Given the description of an element on the screen output the (x, y) to click on. 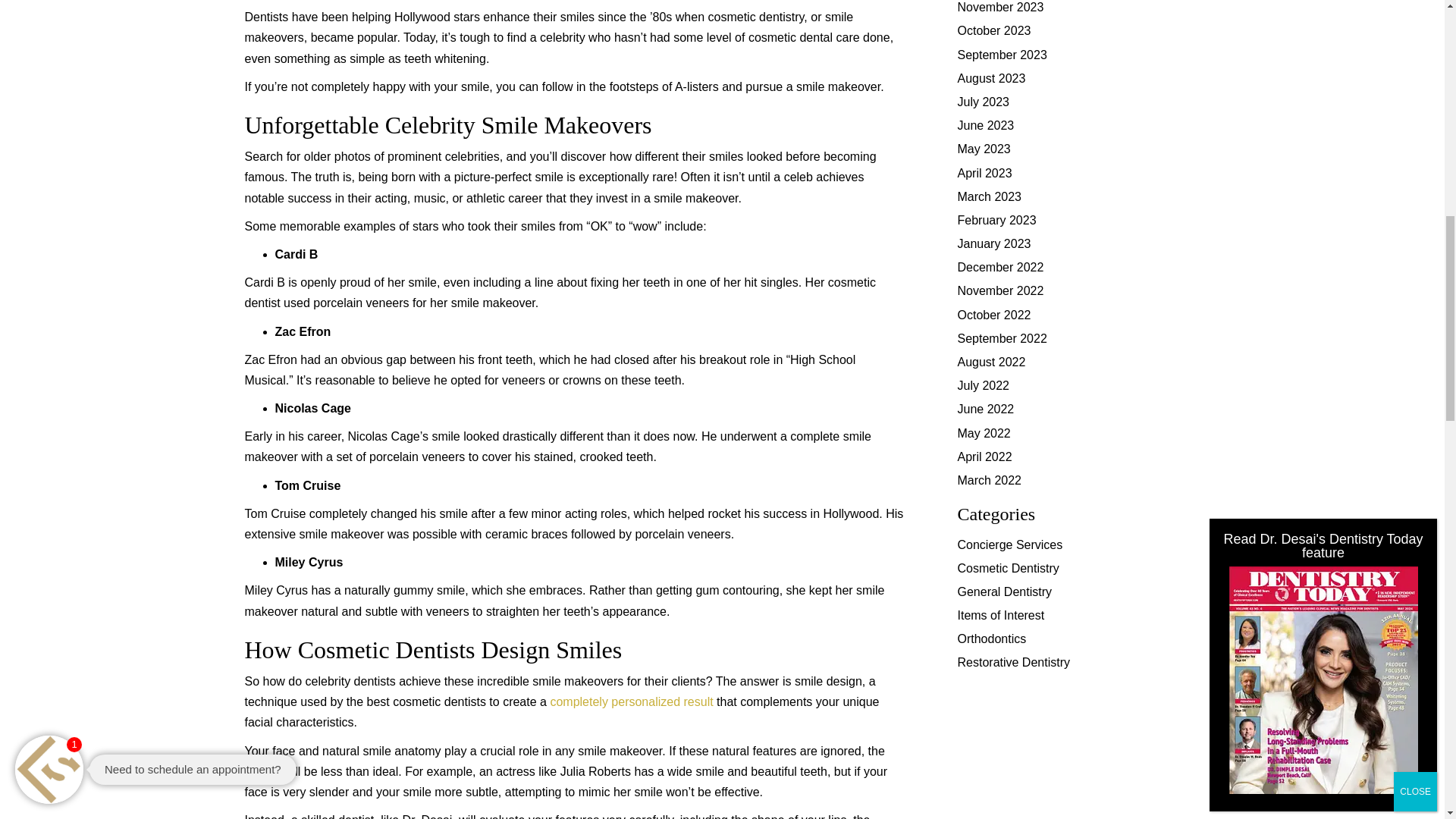
November 2023 (999, 6)
September 2023 (1001, 54)
August 2023 (990, 78)
October 2023 (993, 30)
completely personalized result (633, 701)
July 2023 (982, 101)
June 2023 (984, 124)
